Given the description of an element on the screen output the (x, y) to click on. 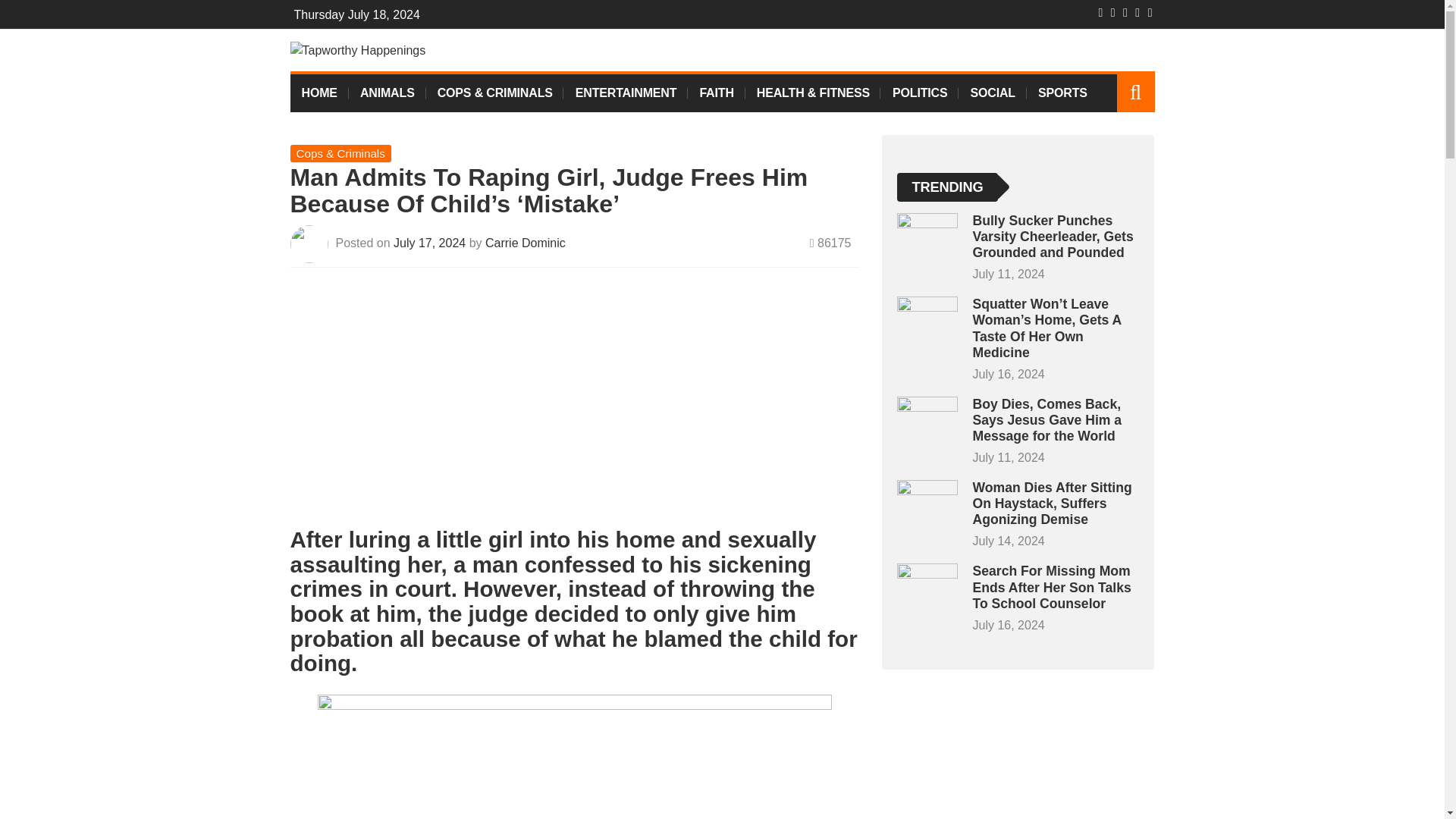
Carrie Dominic (525, 243)
SPORTS (1062, 93)
July 17, 2024 (430, 243)
HOME (318, 93)
POLITICS (919, 93)
SOCIAL (992, 93)
ENTERTAINMENT (626, 93)
FAITH (715, 93)
Advertisement (574, 403)
ANIMALS (387, 93)
